Given the description of an element on the screen output the (x, y) to click on. 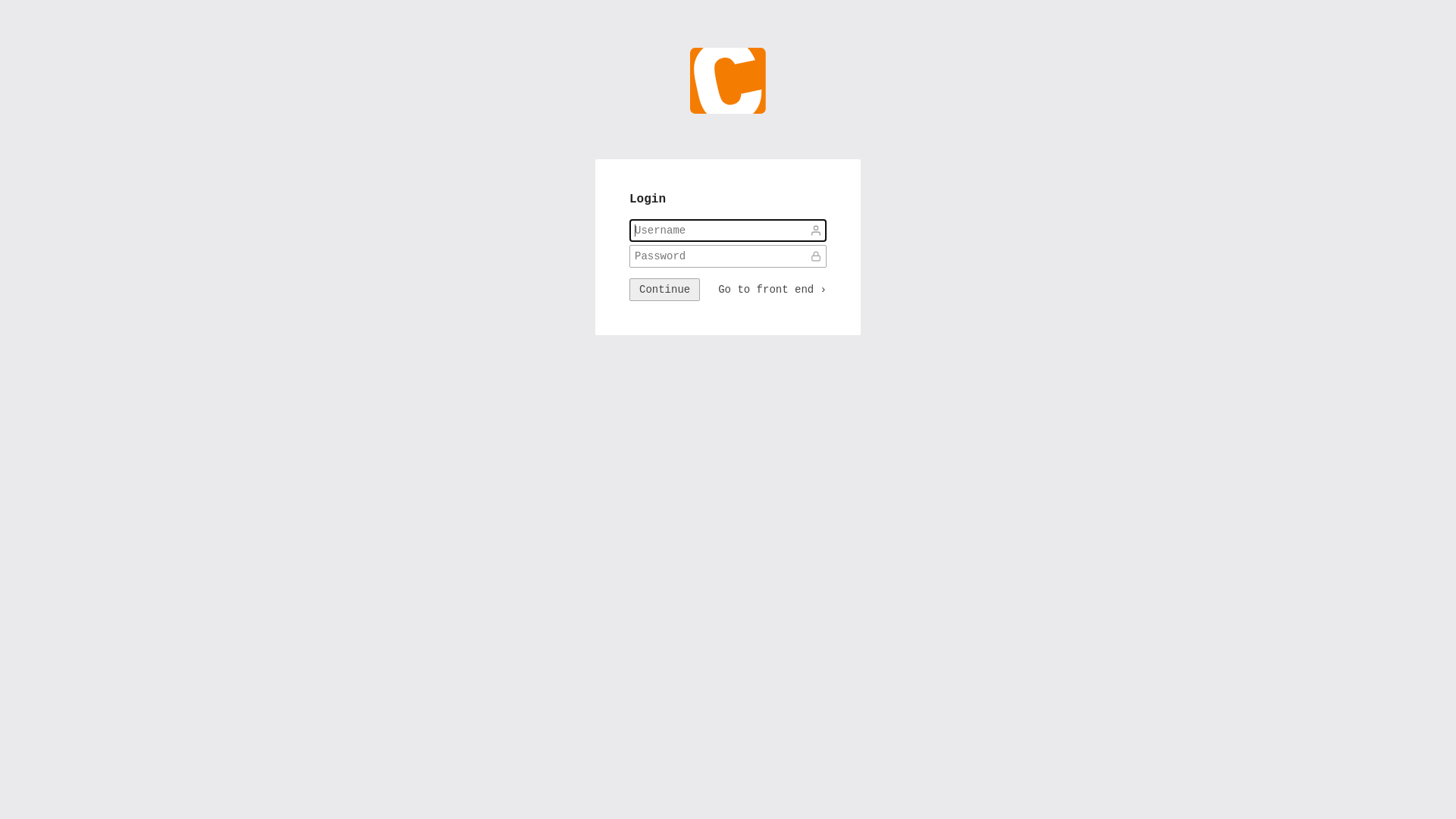
Continue Element type: text (664, 289)
